Given the description of an element on the screen output the (x, y) to click on. 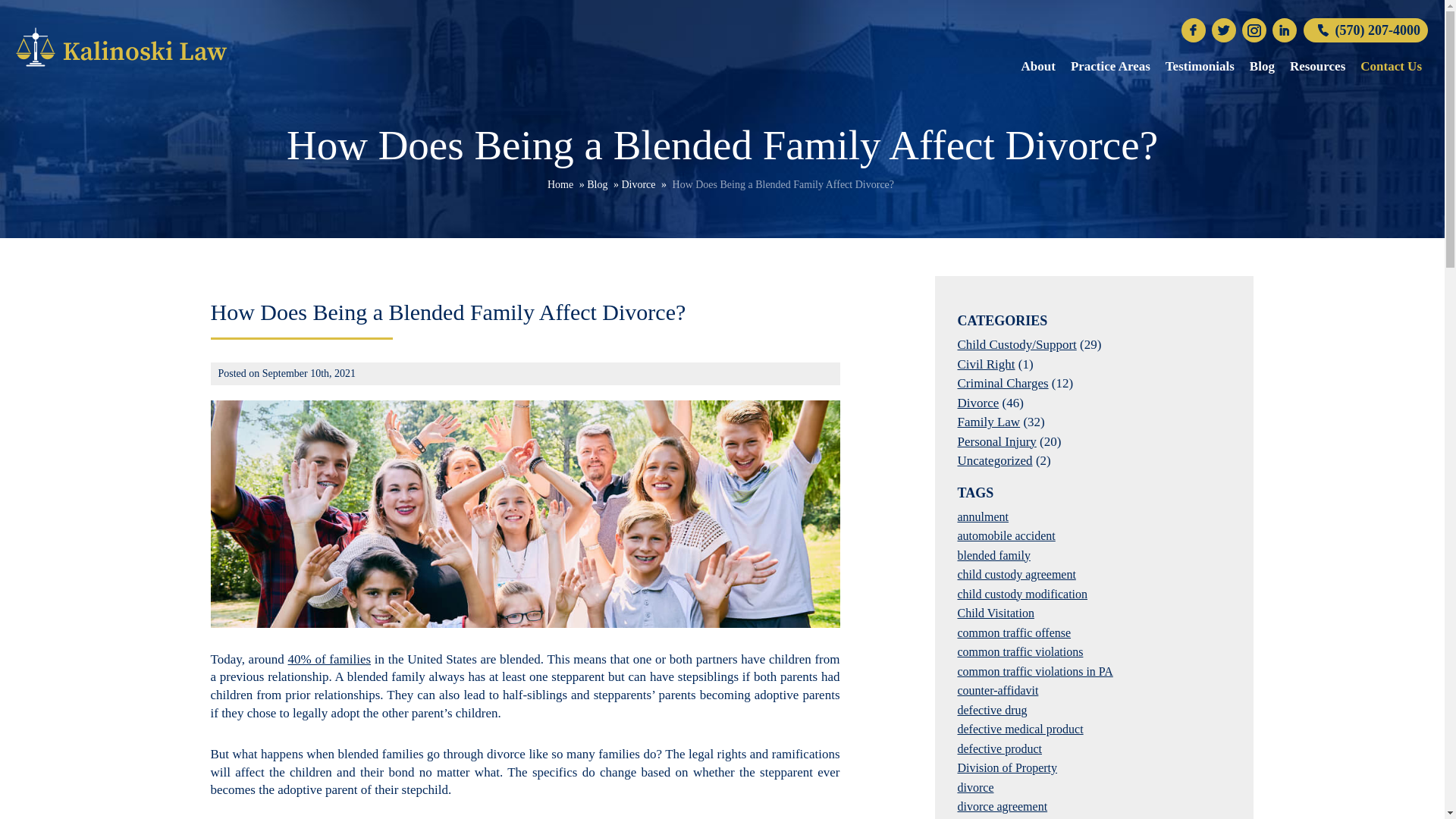
About (1037, 66)
Twitter (1223, 30)
Testimonials (1199, 66)
LinkedIn (1284, 30)
Contact Us (1390, 66)
Home (560, 184)
Resources (1317, 66)
Practice Areas (1109, 66)
Instagram (1253, 30)
Blog (1261, 66)
Facebook (1192, 30)
Blog (596, 184)
Divorce (638, 184)
